Given the description of an element on the screen output the (x, y) to click on. 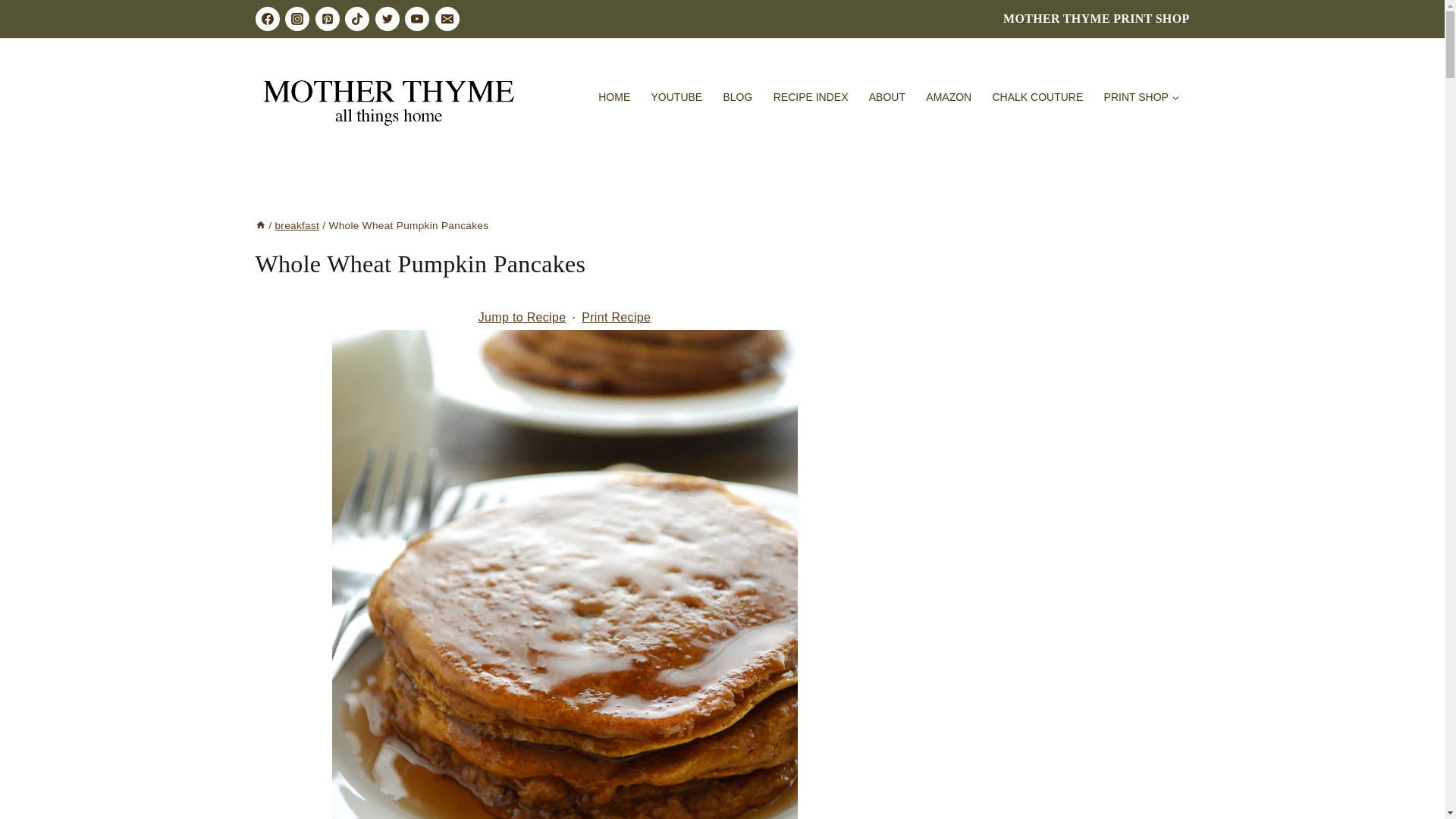
YOUTUBE (676, 96)
RECIPE INDEX (810, 96)
AMAZON (948, 96)
CHALK COUTURE (1037, 96)
PRINT SHOP (1141, 96)
HOME (614, 96)
breakfast (296, 225)
Jump to Recipe (521, 317)
Home (259, 225)
Print Recipe (615, 317)
